Given the description of an element on the screen output the (x, y) to click on. 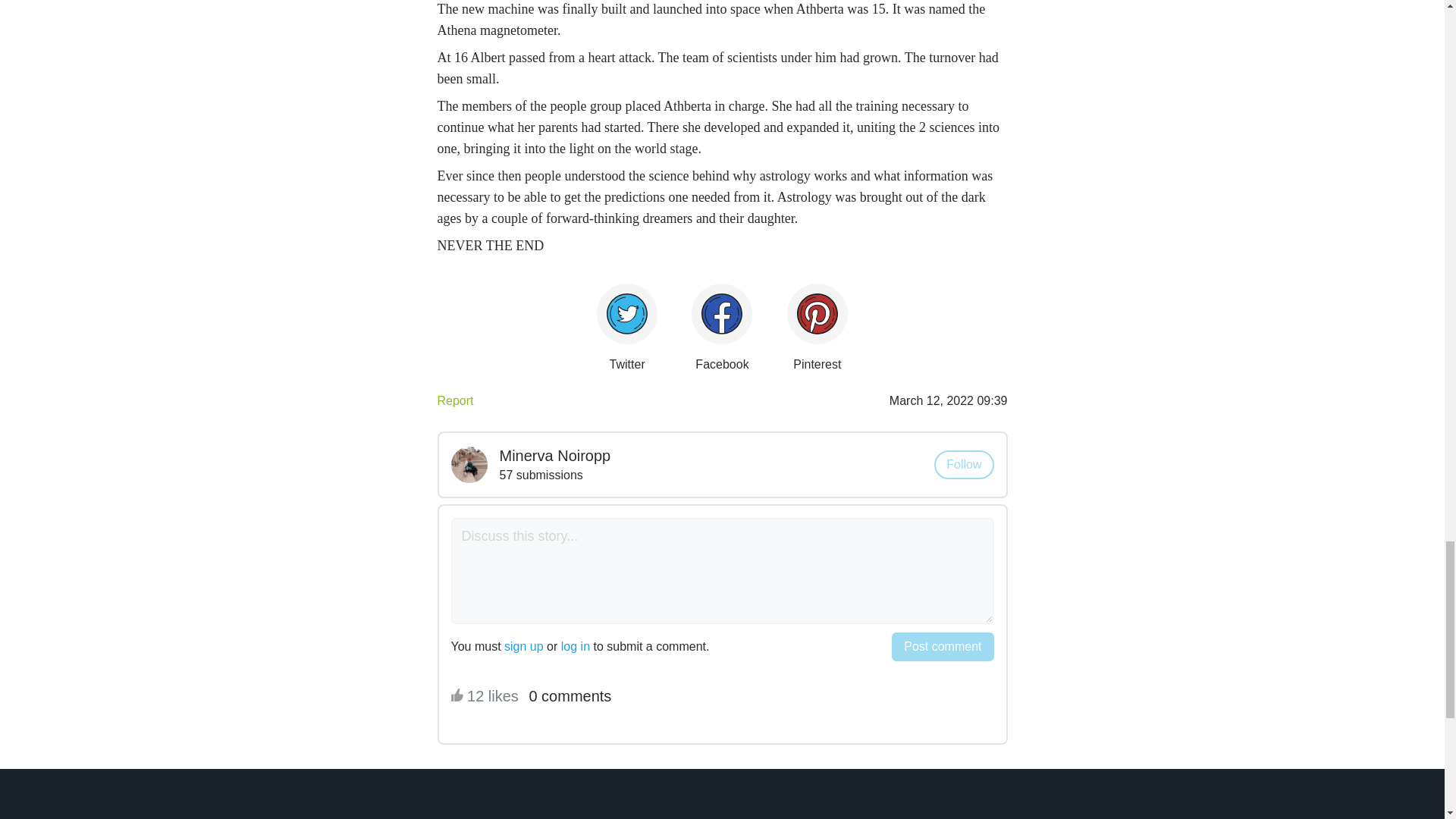
Post comment (941, 646)
